Given the description of an element on the screen output the (x, y) to click on. 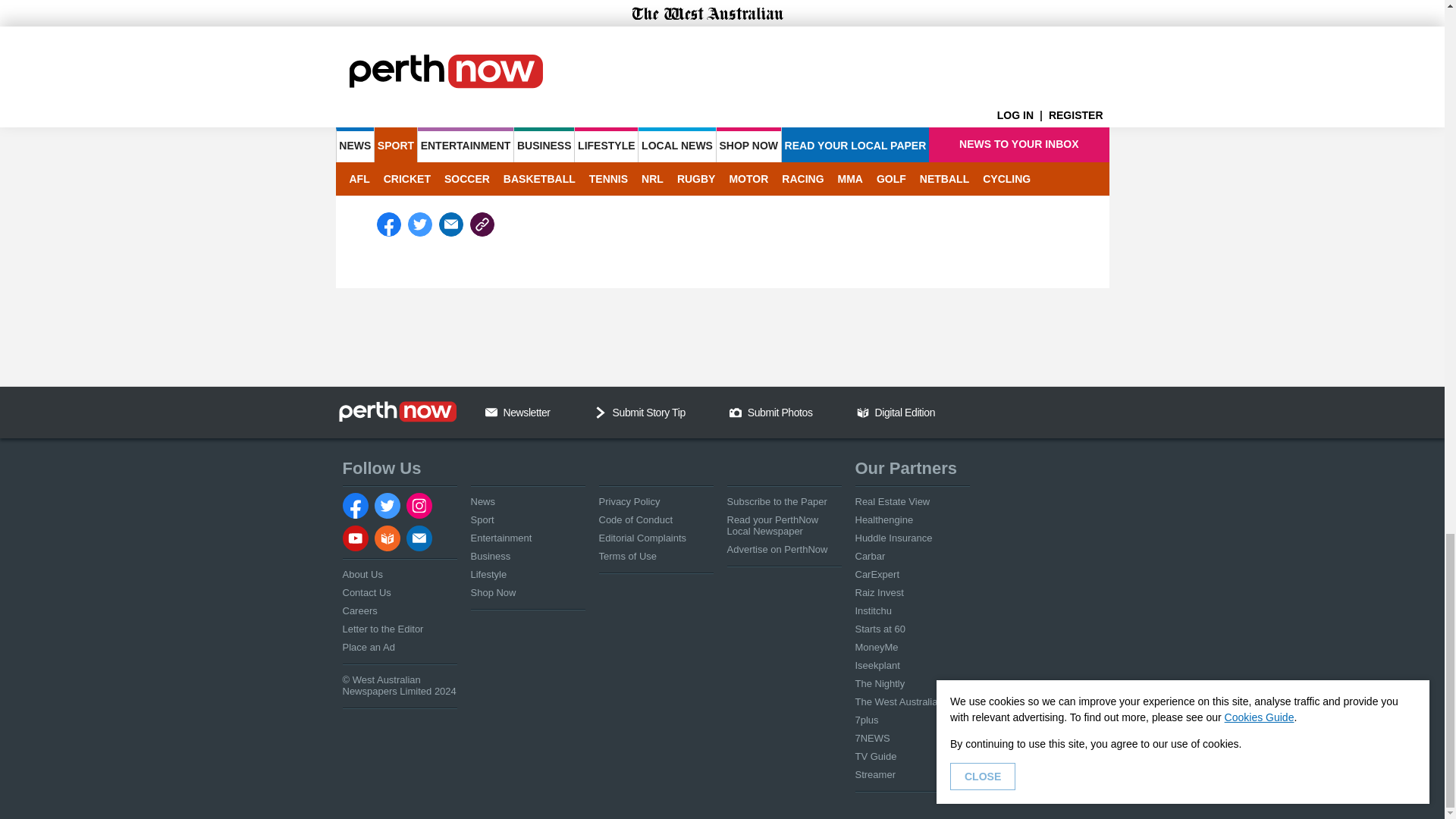
Email Us (490, 412)
Get Digital Edition (863, 412)
Camera Icon (735, 412)
Chevron Down Icon (600, 412)
